Given the description of an element on the screen output the (x, y) to click on. 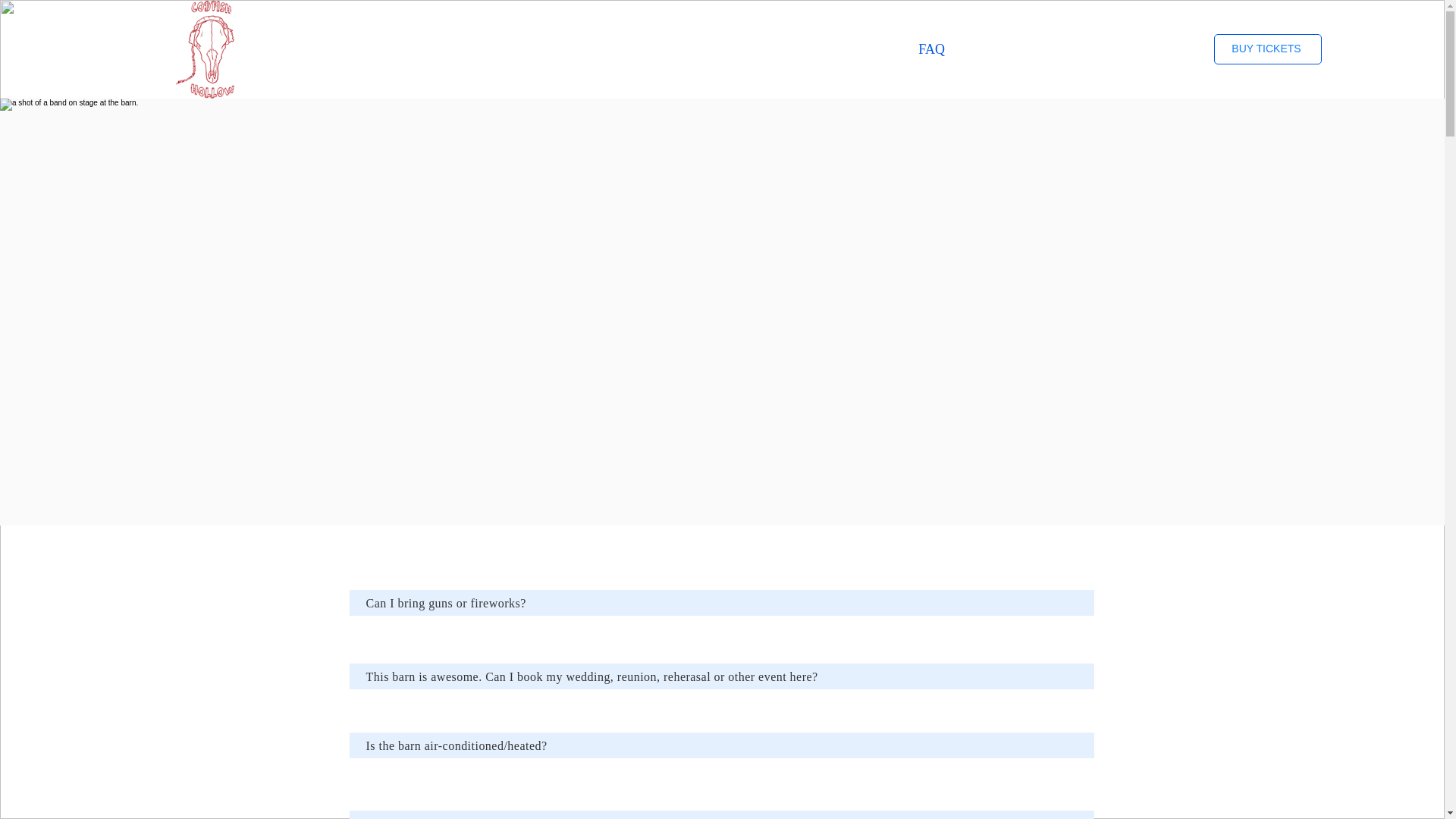
Covid-19 (996, 48)
BUY TICKETS (1268, 49)
FAQ (915, 48)
Store (833, 48)
About (1077, 48)
Home (751, 48)
Contact (1158, 48)
